Given the description of an element on the screen output the (x, y) to click on. 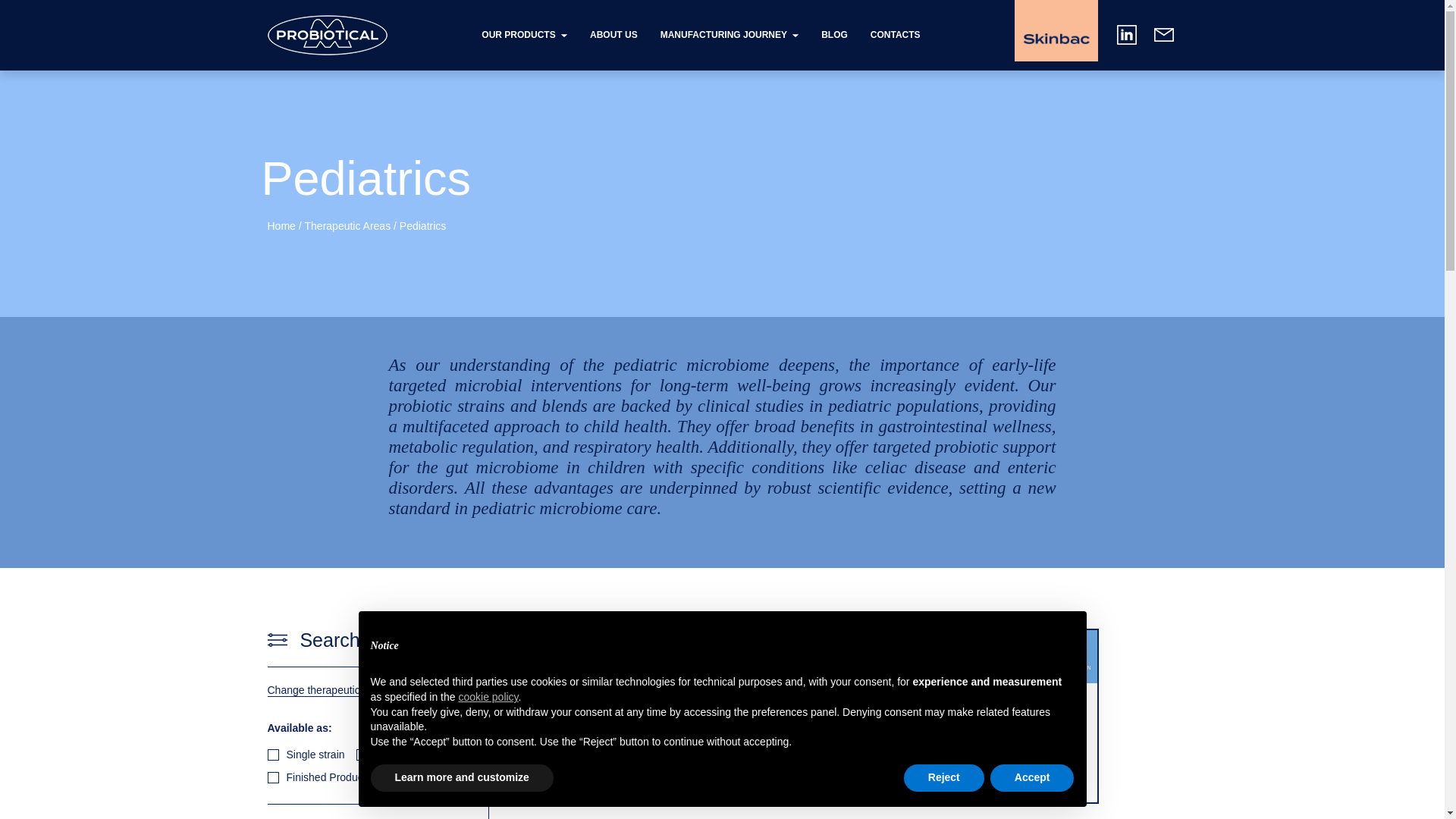
OUR PRODUCTS (524, 34)
1 (272, 777)
50 (272, 754)
50 (272, 754)
ABOUT US (613, 34)
51 (362, 754)
CONTACTS (895, 34)
BLOG (834, 34)
Therapeutic Areas (347, 225)
1 (272, 777)
